Given the description of an element on the screen output the (x, y) to click on. 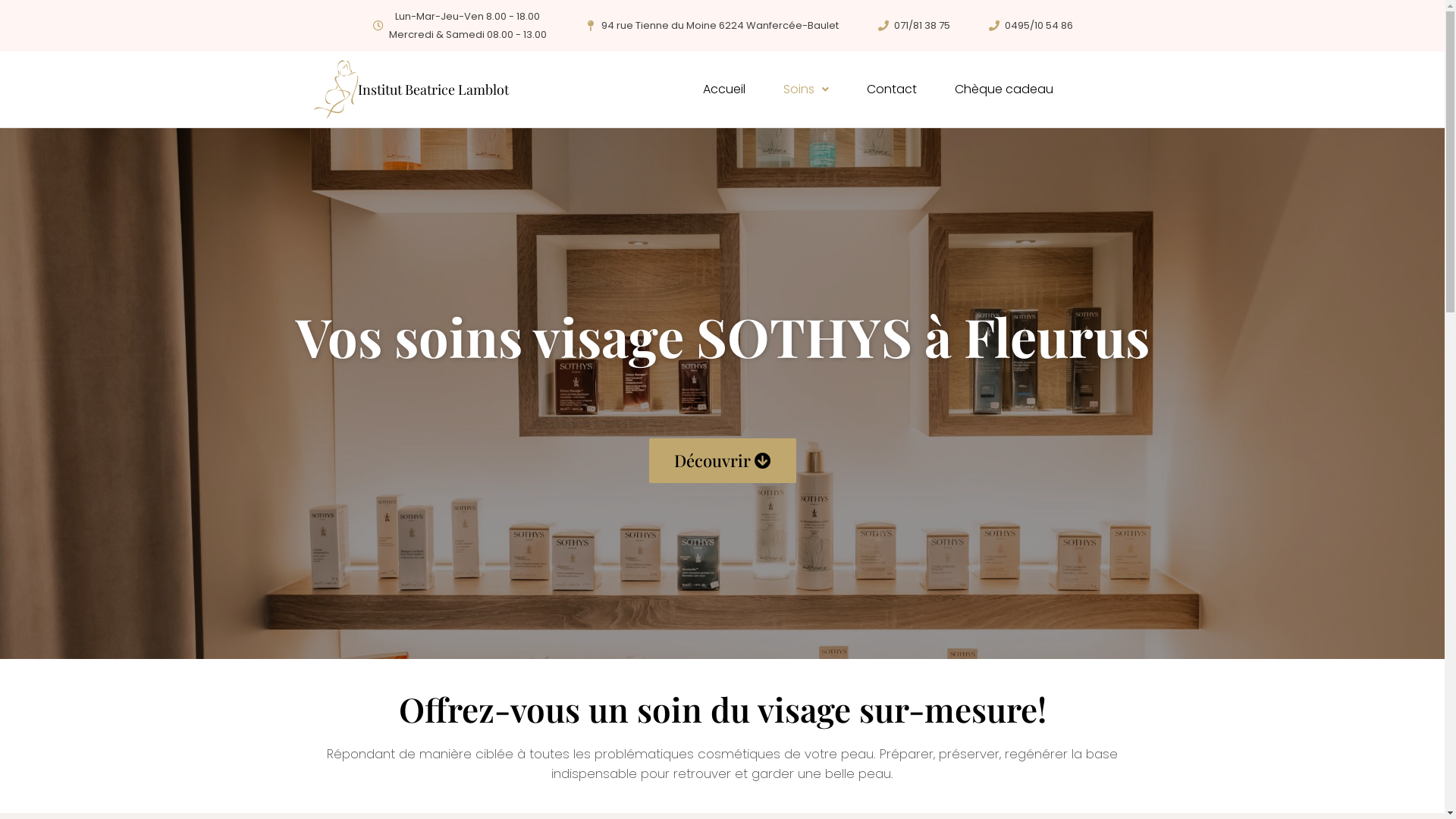
Contact Element type: text (891, 89)
Accueil Element type: text (723, 89)
Institut Beatrice Lamblot Element type: text (478, 89)
Soins Element type: text (805, 89)
